Given the description of an element on the screen output the (x, y) to click on. 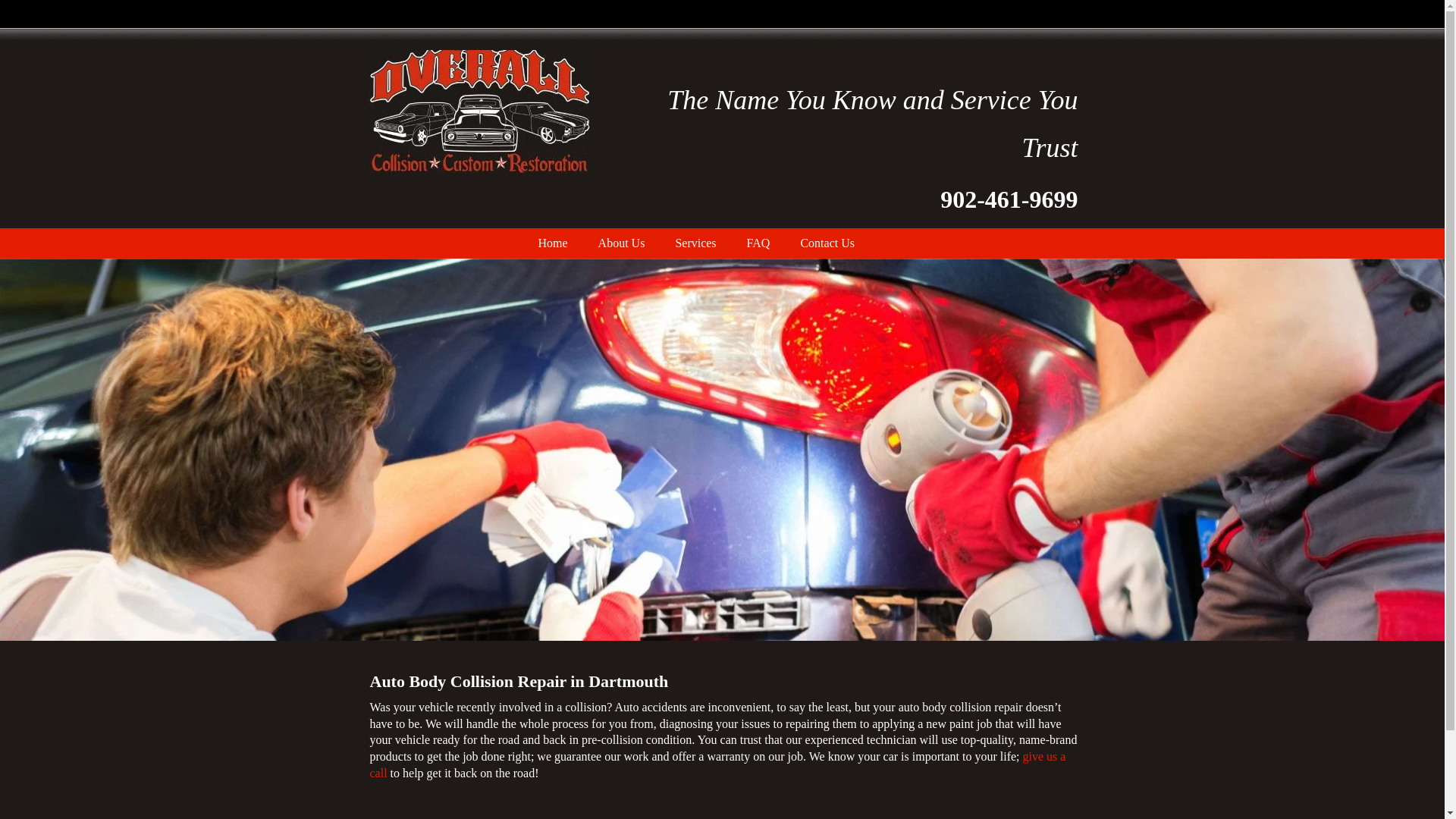
Home (552, 243)
Services (694, 243)
902-461-9699 (1008, 204)
About Us (622, 243)
FAQ (759, 243)
Contact Us (826, 243)
give us a call (717, 764)
